Given the description of an element on the screen output the (x, y) to click on. 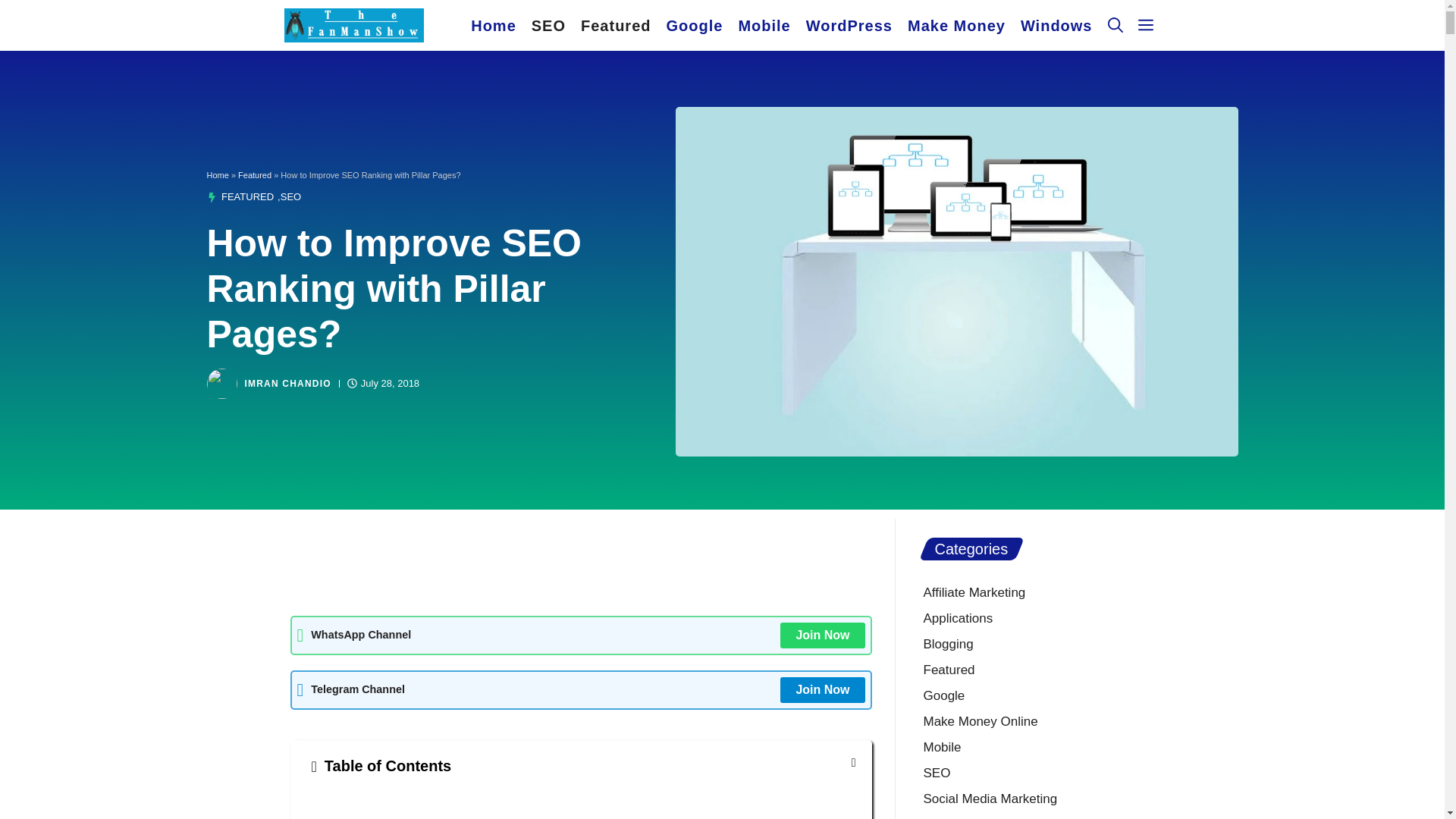
Google (694, 25)
Windows (1056, 25)
Home (493, 25)
WordPress (848, 25)
Home (217, 174)
The Fanman Show (353, 24)
Join Now (822, 635)
Featured (254, 174)
Mobile (763, 25)
FEATURED (247, 196)
